Given the description of an element on the screen output the (x, y) to click on. 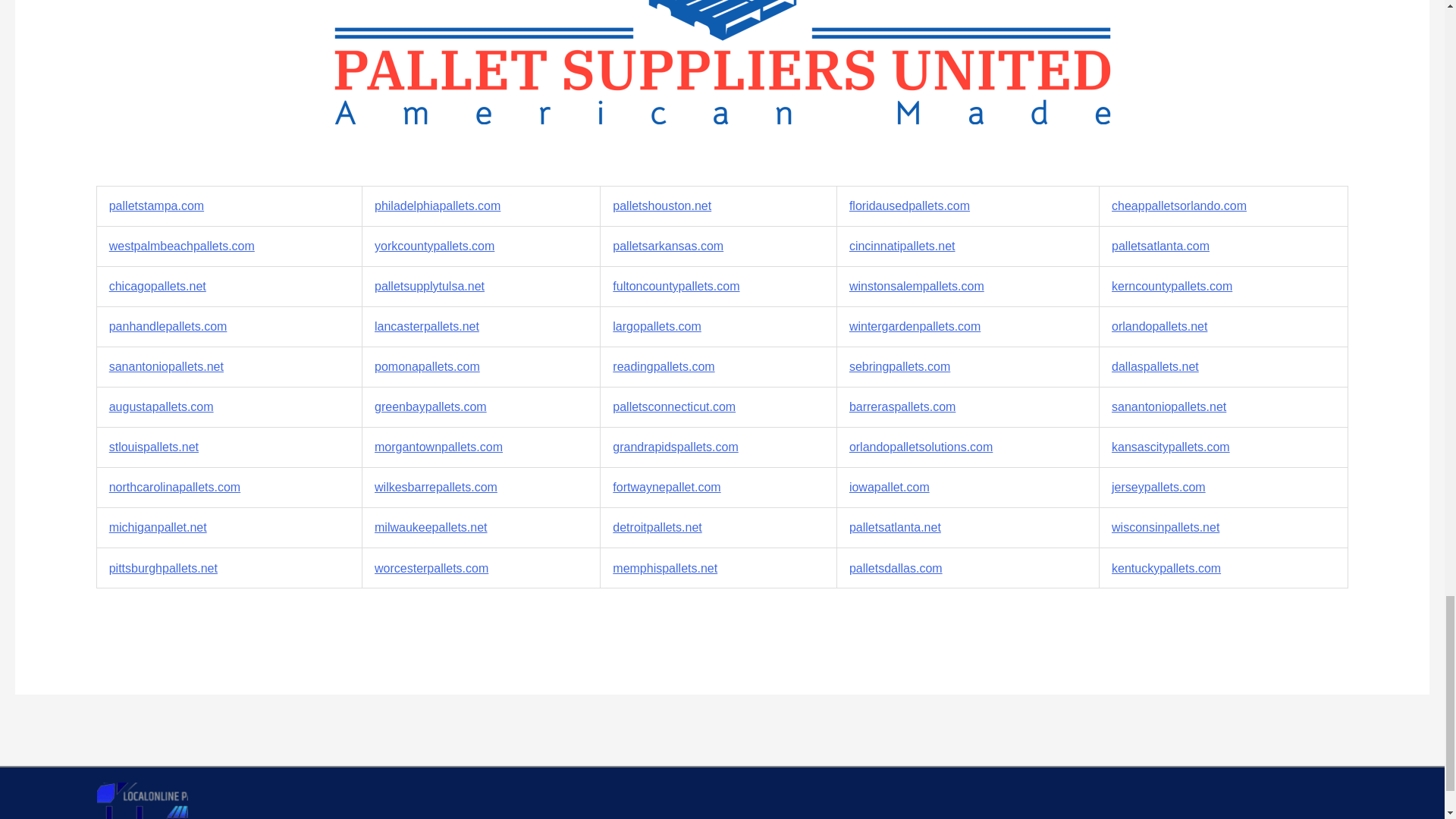
cheappalletsorlando.com (1179, 205)
chicagopallets.net (157, 286)
palletsupplytulsa.net (429, 286)
winstonsalempallets.com (916, 286)
cropped-cropped-JPEG-FILE-01-removebg-preview.png (142, 800)
palletstampa.com (156, 205)
largopallets.com (656, 326)
lancasterpallets.net (426, 326)
wintergardenpallets.com (913, 326)
palletsarkansas.com (667, 245)
westpalmbeachpallets.com (181, 245)
palletsatlanta.com (1160, 245)
panhandlepallets.com (168, 326)
cincinnatipallets.net (901, 245)
yorkcountypallets.com (434, 245)
